Given the description of an element on the screen output the (x, y) to click on. 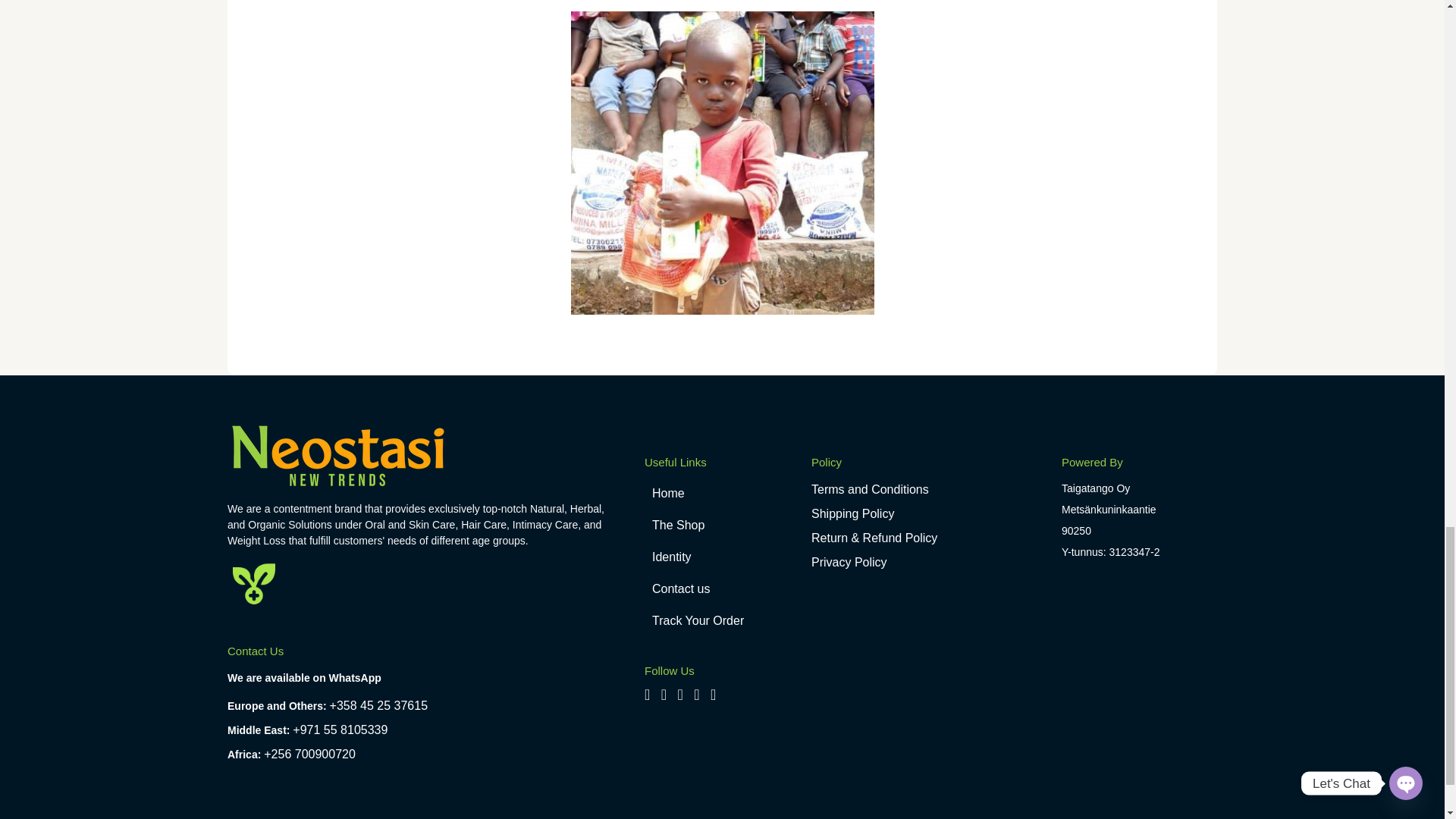
Shipping Policy (851, 513)
Privacy Policy (848, 562)
Contact us (722, 589)
Track Your Order (722, 621)
The Shop (722, 525)
Home (722, 493)
Terms and Conditions (869, 489)
Identity (722, 557)
